Given the description of an element on the screen output the (x, y) to click on. 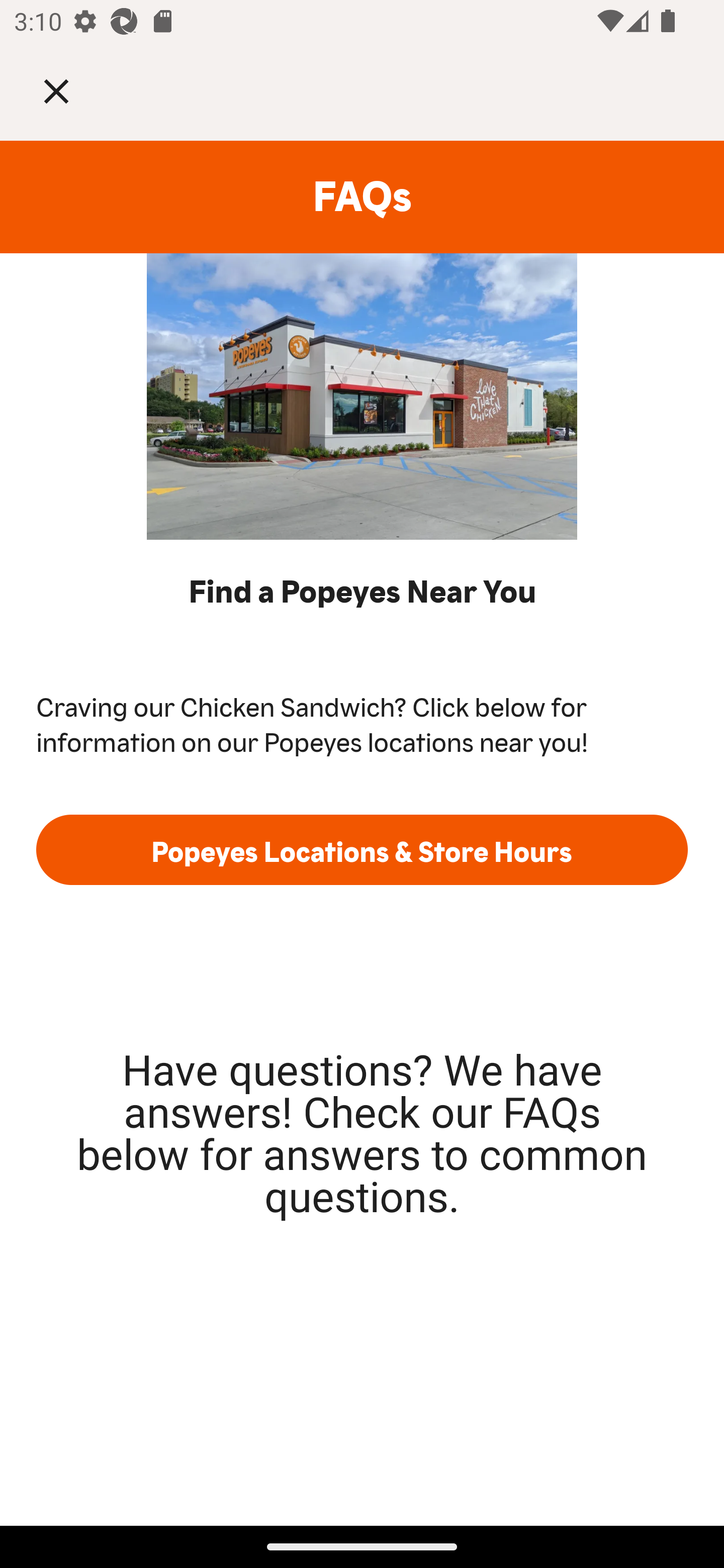
 (70, 90)
Popeyes Locations & Store Hours (361, 849)
